Given the description of an element on the screen output the (x, y) to click on. 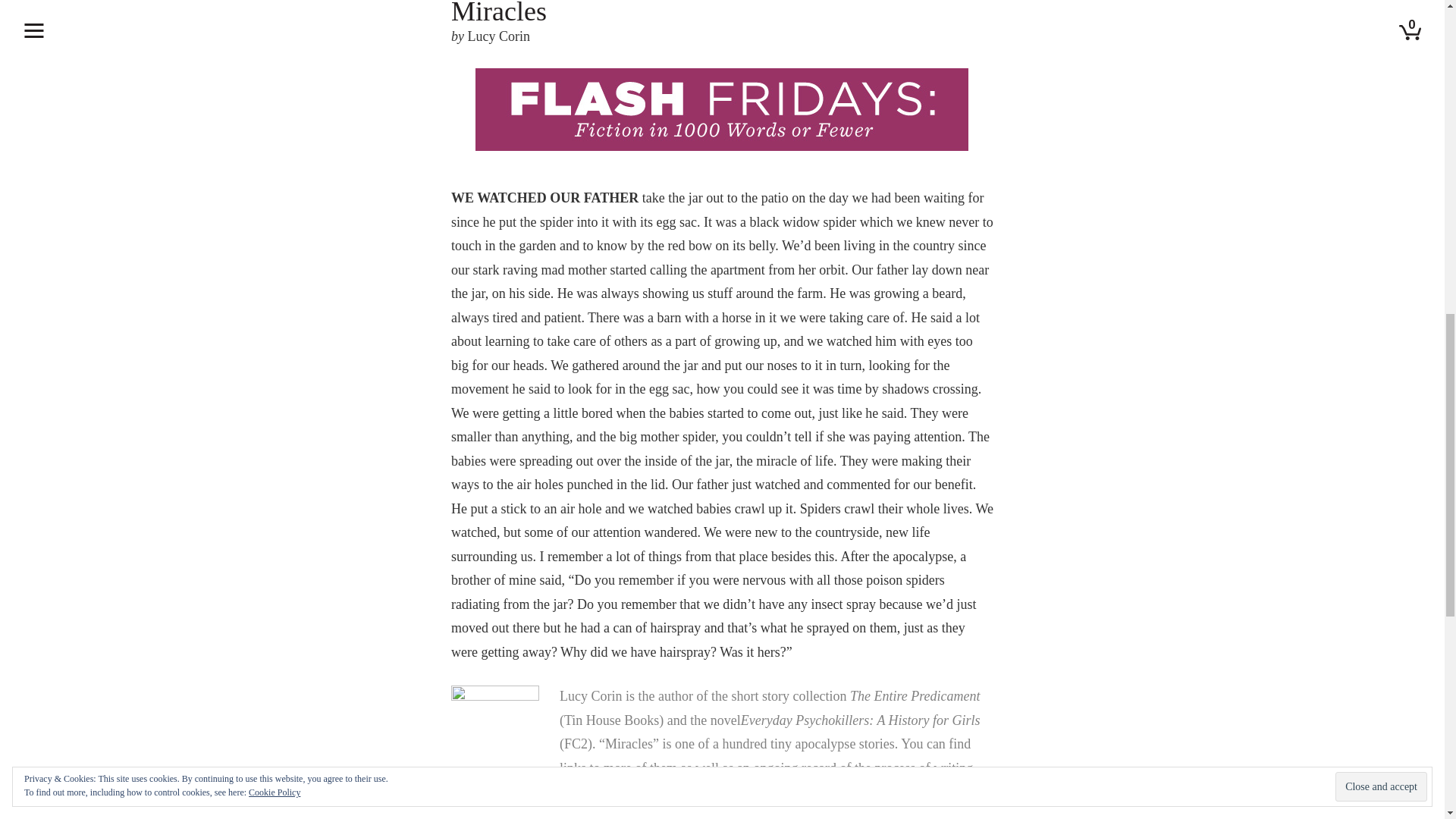
BG-FF-header-new (722, 116)
Lucy-Corin (494, 728)
